Given the description of an element on the screen output the (x, y) to click on. 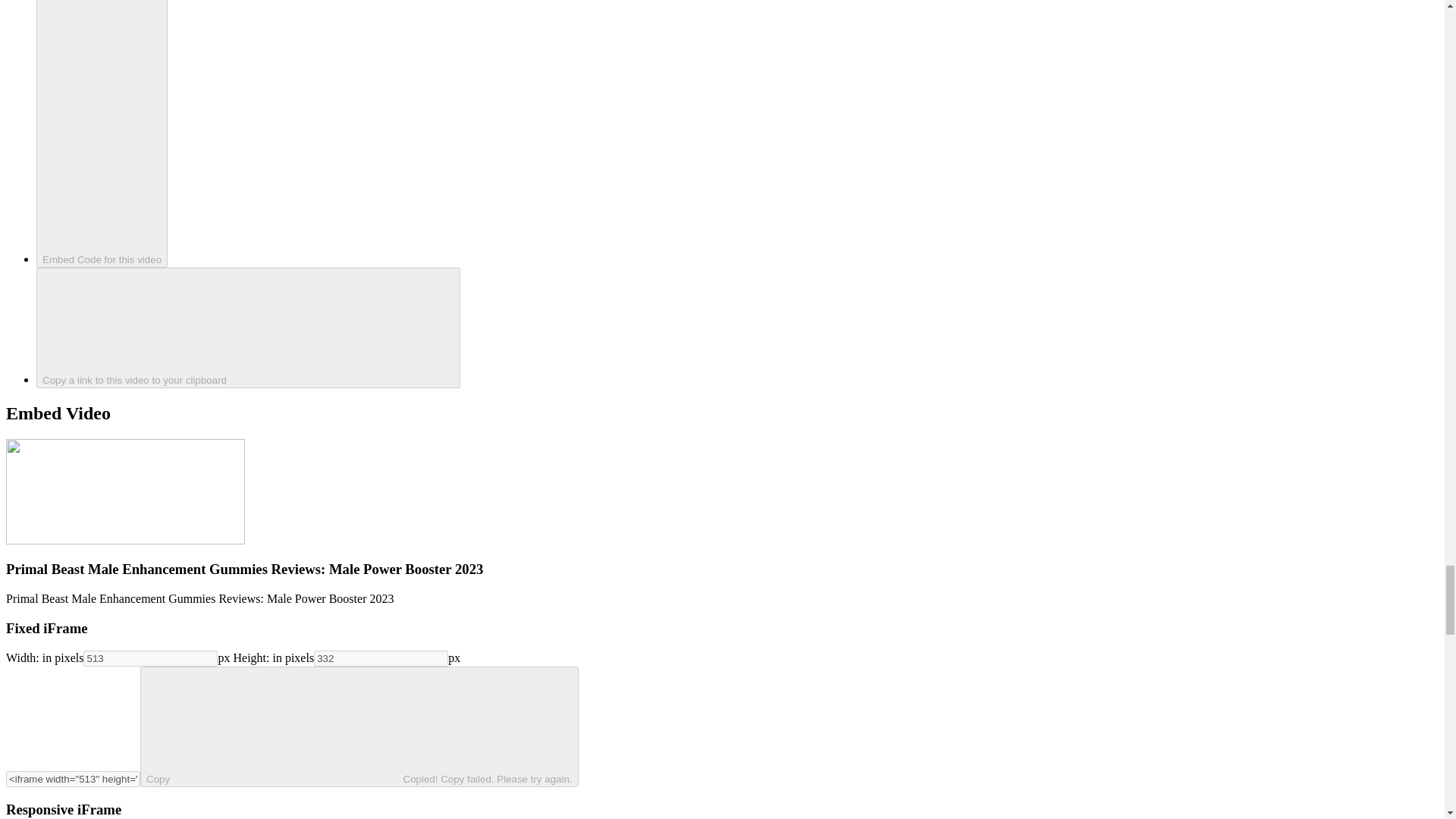
Link (248, 327)
332 (381, 658)
513 (149, 658)
